Given the description of an element on the screen output the (x, y) to click on. 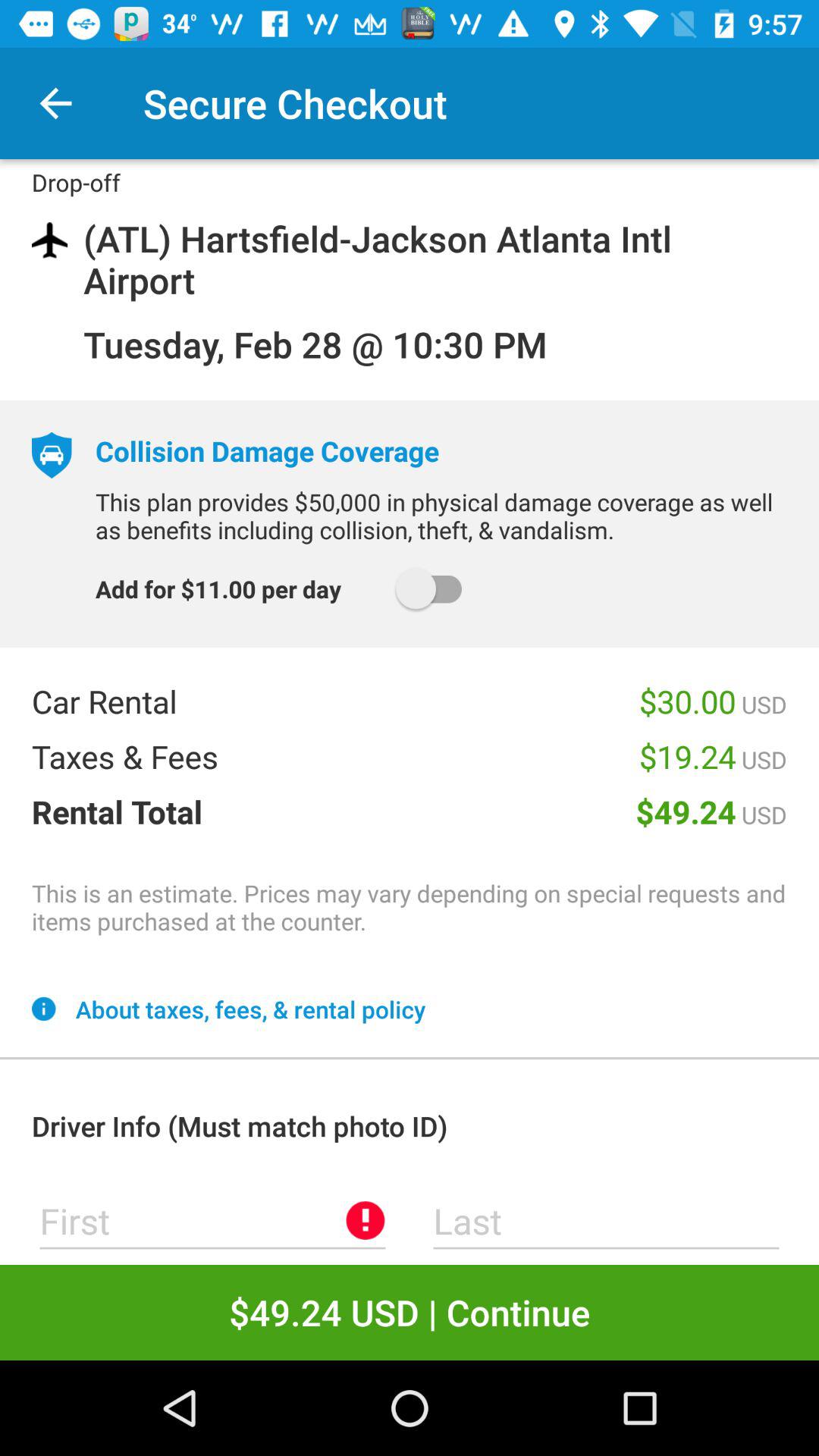
enter first name (212, 1220)
